Given the description of an element on the screen output the (x, y) to click on. 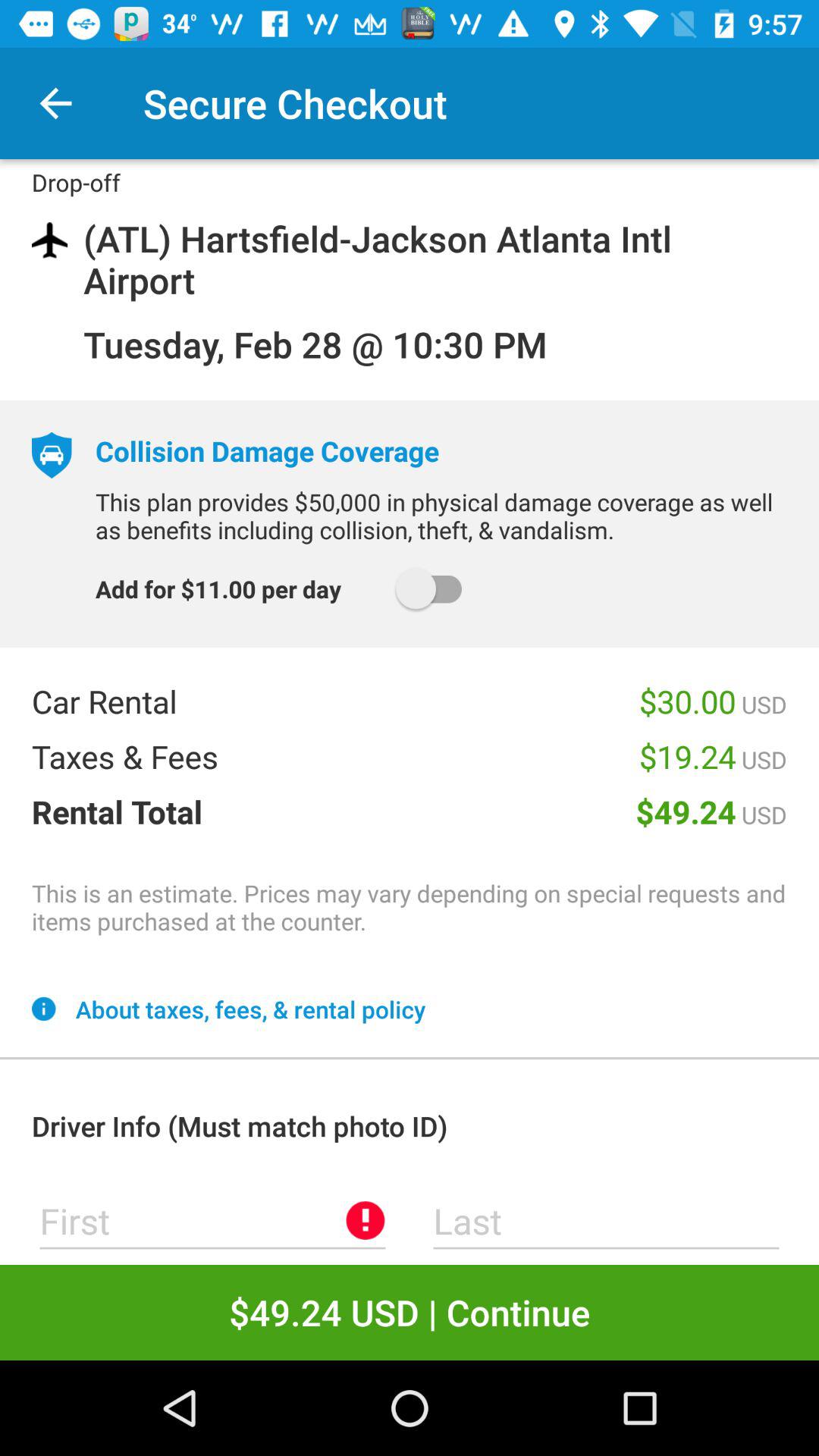
enter first name (212, 1220)
